Given the description of an element on the screen output the (x, y) to click on. 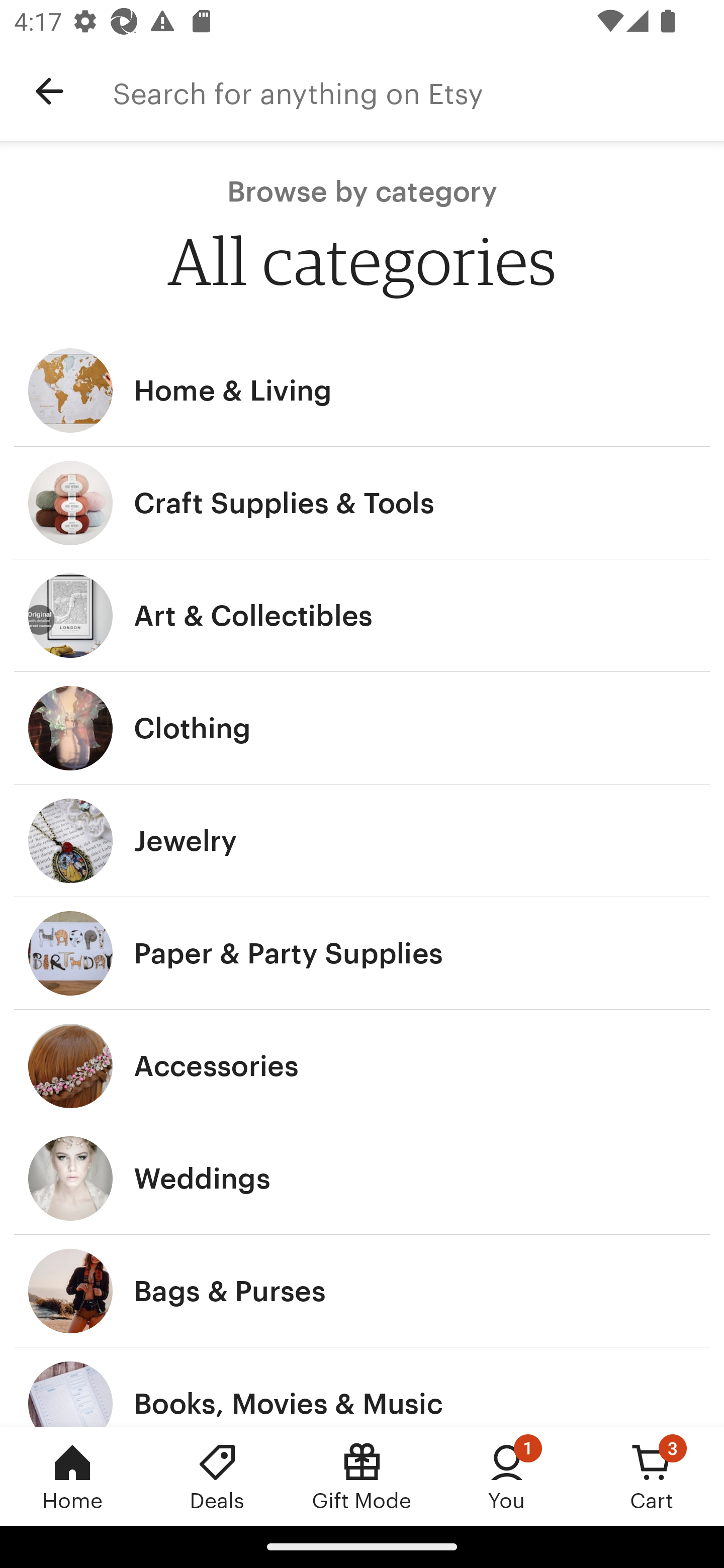
Navigate up (49, 91)
Search for anything on Etsy (418, 91)
Home & Living (361, 389)
Craft Supplies & Tools (361, 502)
Art & Collectibles (361, 615)
Clothing (361, 728)
Jewelry (361, 840)
Paper & Party Supplies (361, 952)
Accessories (361, 1065)
Weddings (361, 1178)
Bags & Purses (361, 1290)
Books, Movies & Music (361, 1386)
Deals (216, 1475)
Gift Mode (361, 1475)
You, 1 new notification You (506, 1475)
Cart, 3 new notifications Cart (651, 1475)
